Given the description of an element on the screen output the (x, y) to click on. 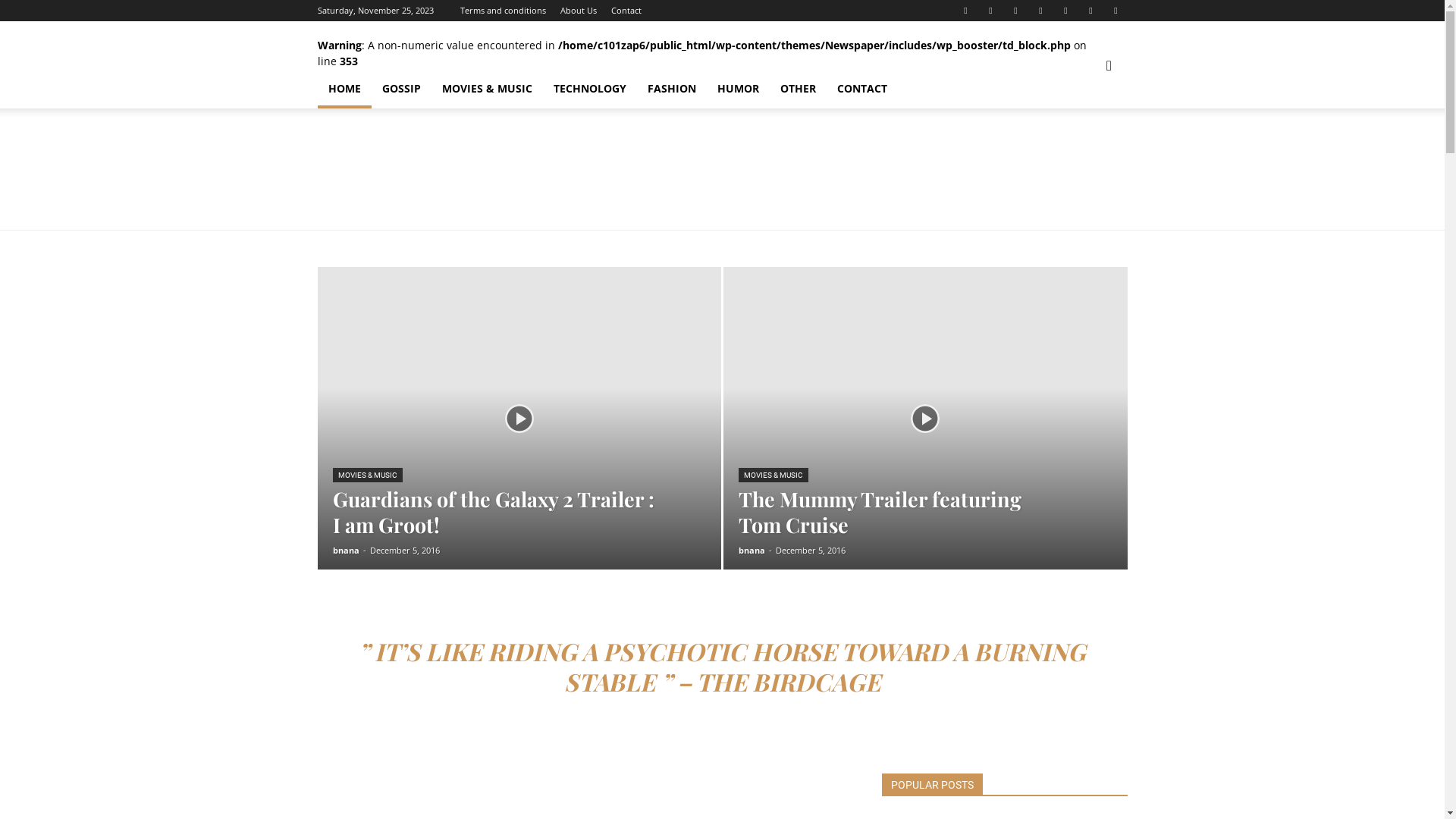
HUMOR Element type: text (737, 88)
Terms and conditions Element type: text (502, 9)
StumbleUpon Element type: hover (1065, 10)
GOSSIP Element type: text (401, 88)
TECHNOLOGY Element type: text (589, 88)
bnana Element type: text (751, 549)
The Mummy Trailer featuring Tom Cruise Element type: text (879, 511)
Contact Element type: text (626, 9)
MOVIES & MUSIC Element type: text (486, 88)
Twitter Element type: hover (1090, 10)
RSS Element type: hover (1040, 10)
Pinterest Element type: hover (1015, 10)
Youtube Element type: hover (1115, 10)
CONTACT Element type: text (861, 88)
About Us Element type: text (577, 9)
Guardians of the Galaxy 2 Trailer : I am Groot! Element type: text (492, 511)
bnana Element type: text (345, 549)
MOVIES & MUSIC Element type: text (366, 474)
MOVIES & MUSIC Element type: text (773, 474)
Facebook Element type: hover (964, 10)
HOME Element type: text (343, 88)
FASHION Element type: text (671, 88)
Guardians of the Galaxy 2 Trailer : I am Groot! Element type: hover (518, 441)
The Mummy Trailer featuring Tom Cruise Element type: hover (925, 441)
Google+ Element type: hover (990, 10)
OTHER Element type: text (796, 88)
